Given the description of an element on the screen output the (x, y) to click on. 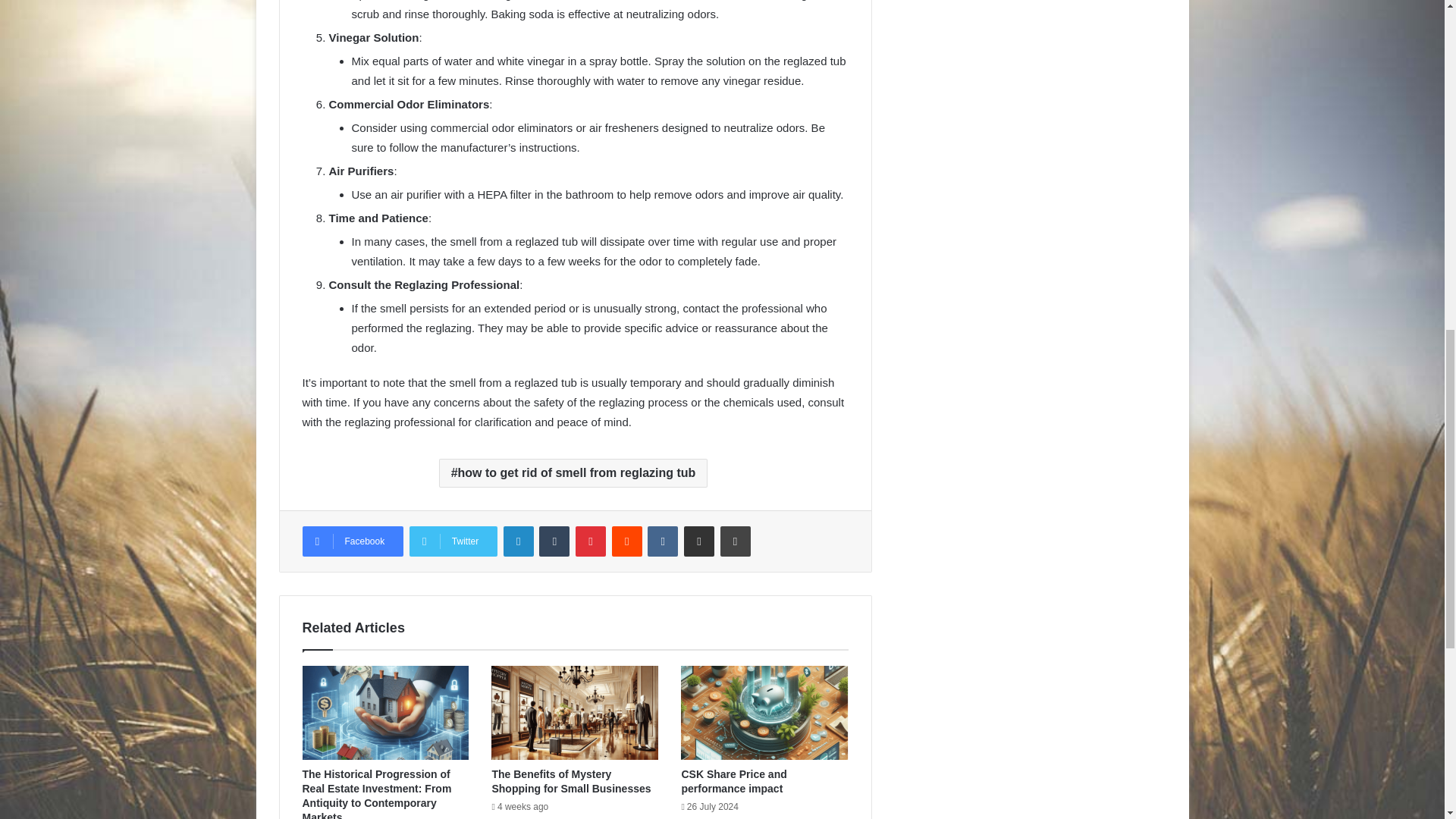
how to get rid of smell from reglazing tub (573, 472)
Twitter (453, 541)
Print (735, 541)
Tumblr (553, 541)
Pinterest (590, 541)
Tumblr (553, 541)
Pinterest (590, 541)
Twitter (453, 541)
VKontakte (662, 541)
